Given the description of an element on the screen output the (x, y) to click on. 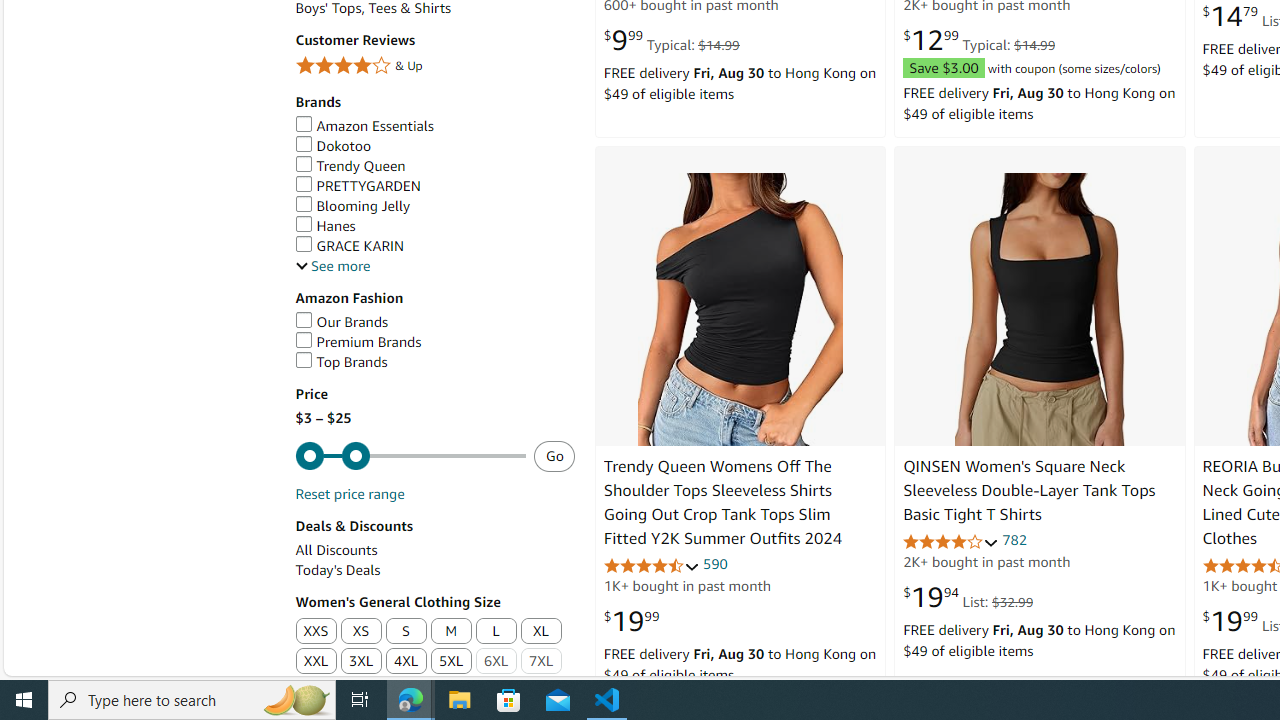
L (495, 631)
Skip to main search results (88, 666)
See more, Brands (332, 266)
782 (1014, 539)
7XL (541, 662)
4 Stars & Up (434, 66)
GRACE KARIN (349, 246)
